Given the description of an element on the screen output the (x, y) to click on. 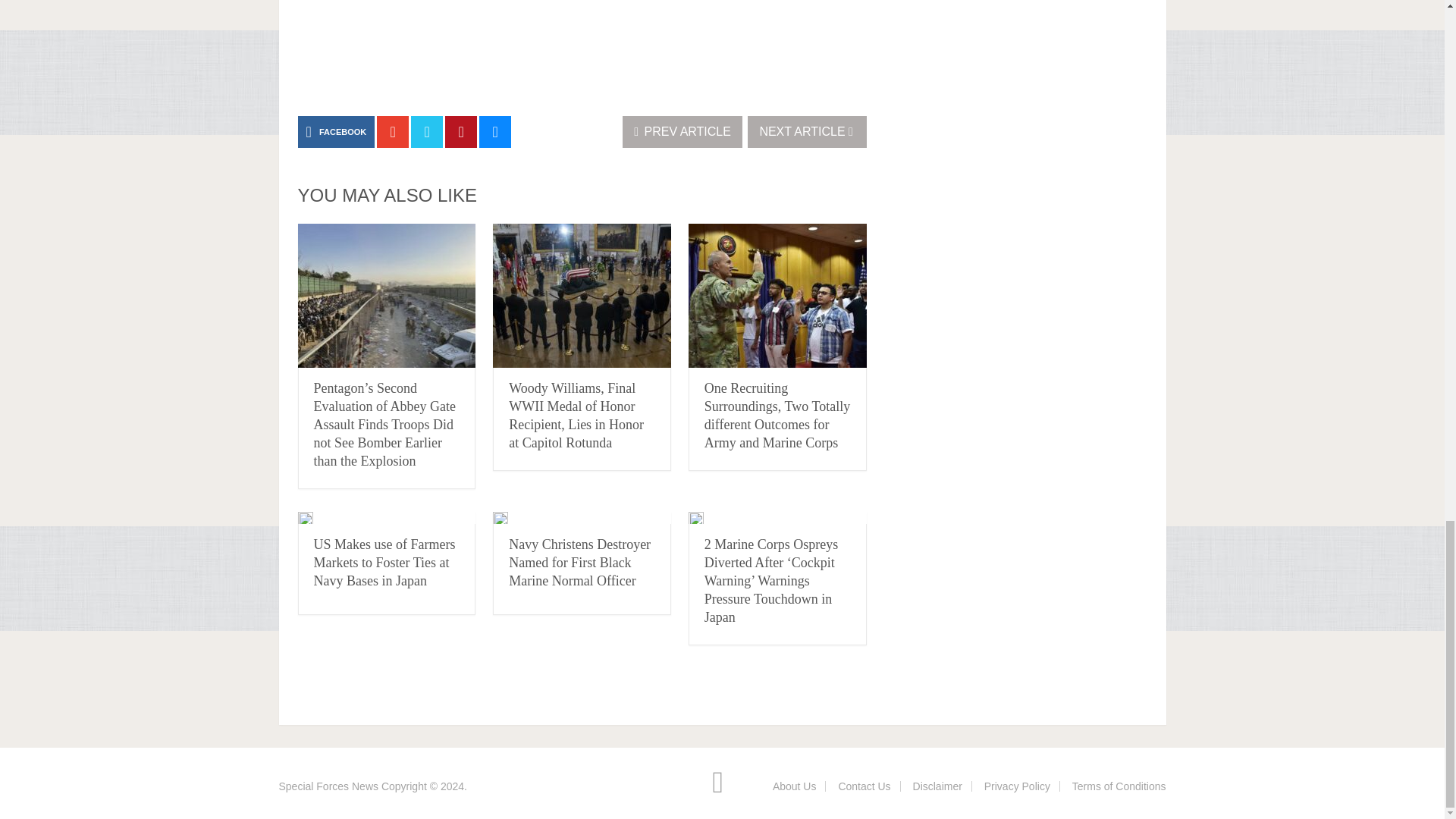
FACEBOOK (335, 132)
